Given the description of an element on the screen output the (x, y) to click on. 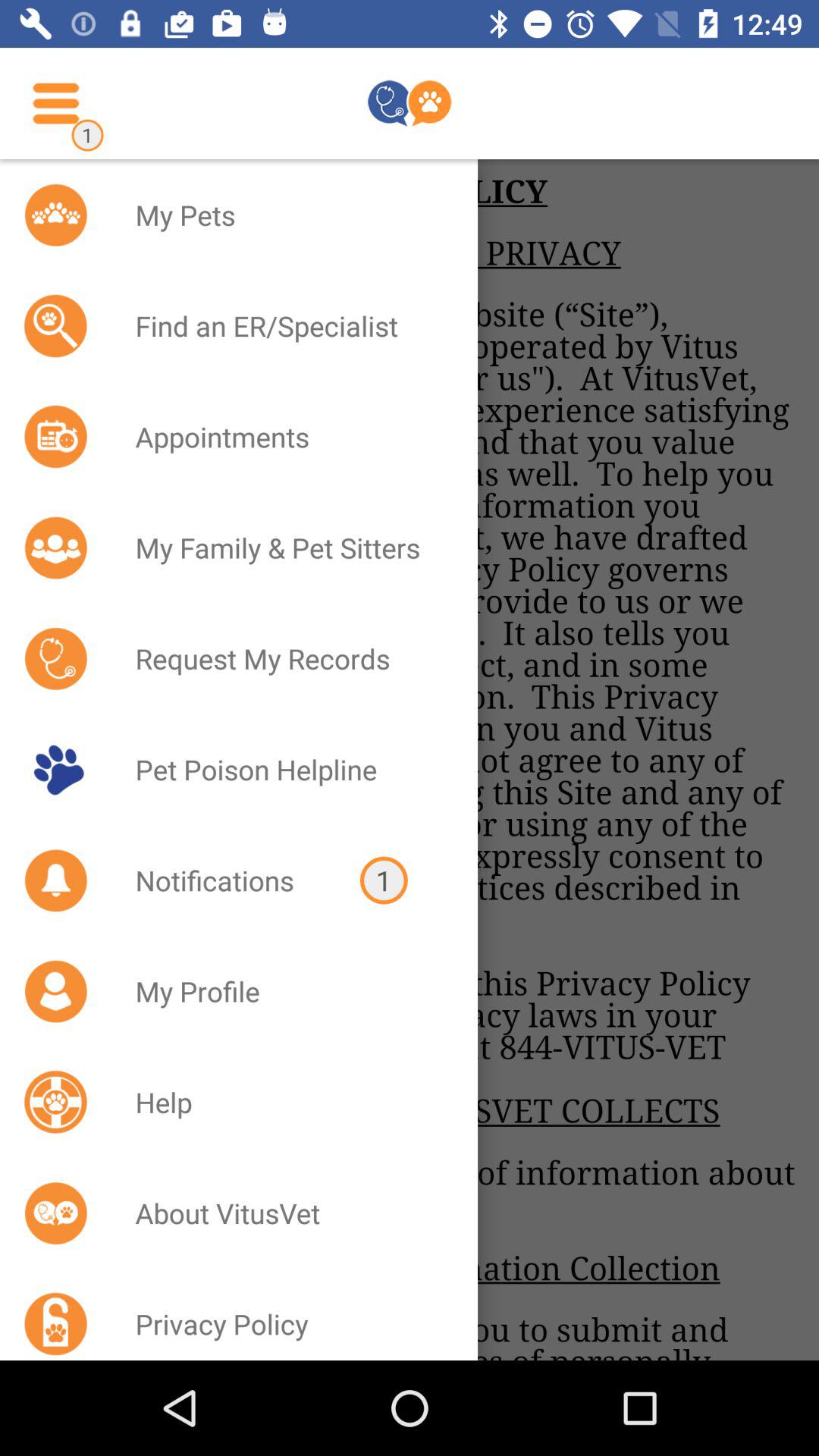
flip to the help (286, 1102)
